Given the description of an element on the screen output the (x, y) to click on. 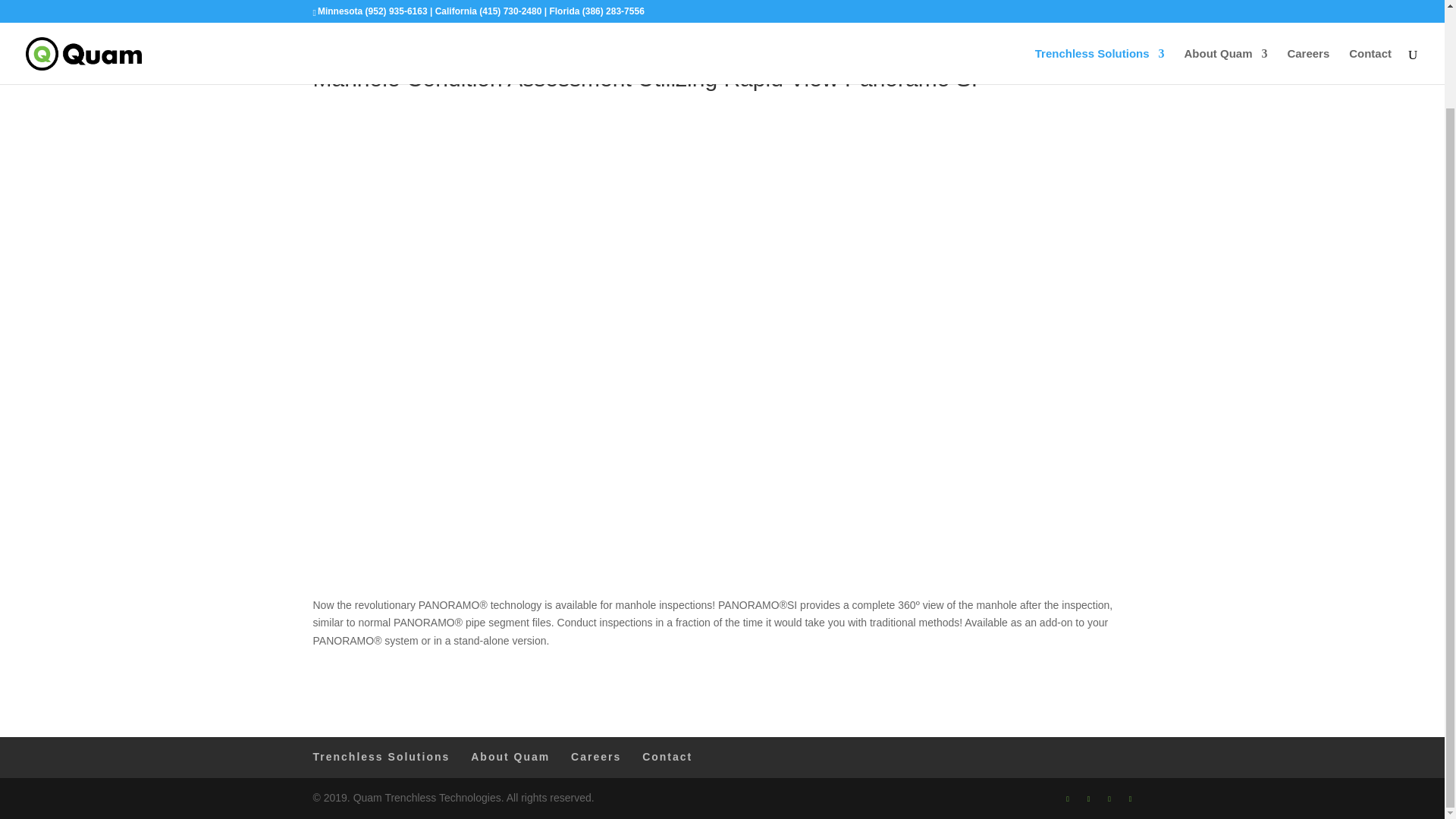
Careers (595, 756)
Trenchless Solutions (381, 756)
About Quam (510, 756)
Contact (667, 756)
